Given the description of an element on the screen output the (x, y) to click on. 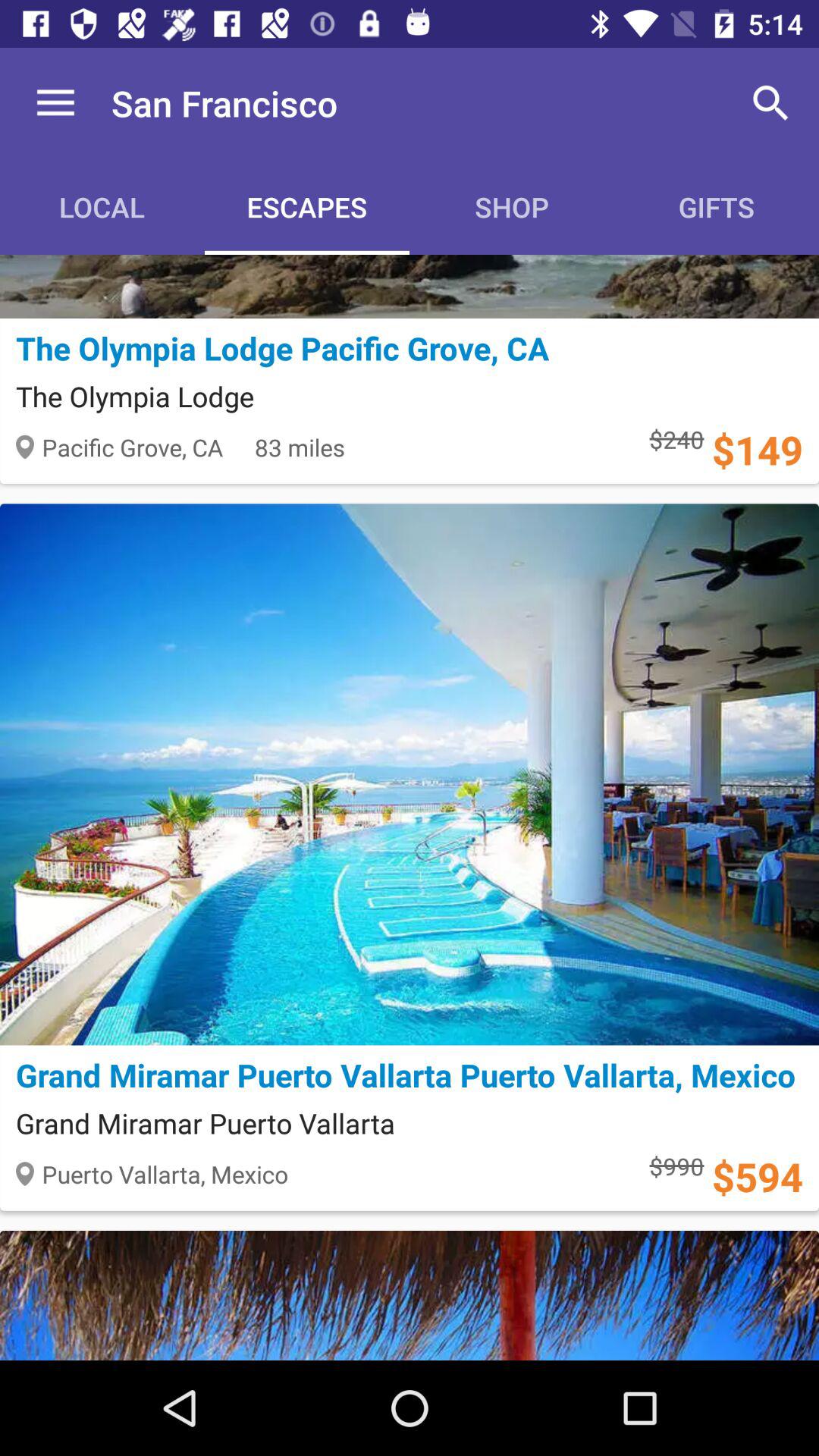
select item next to san francisco icon (771, 103)
